Given the description of an element on the screen output the (x, y) to click on. 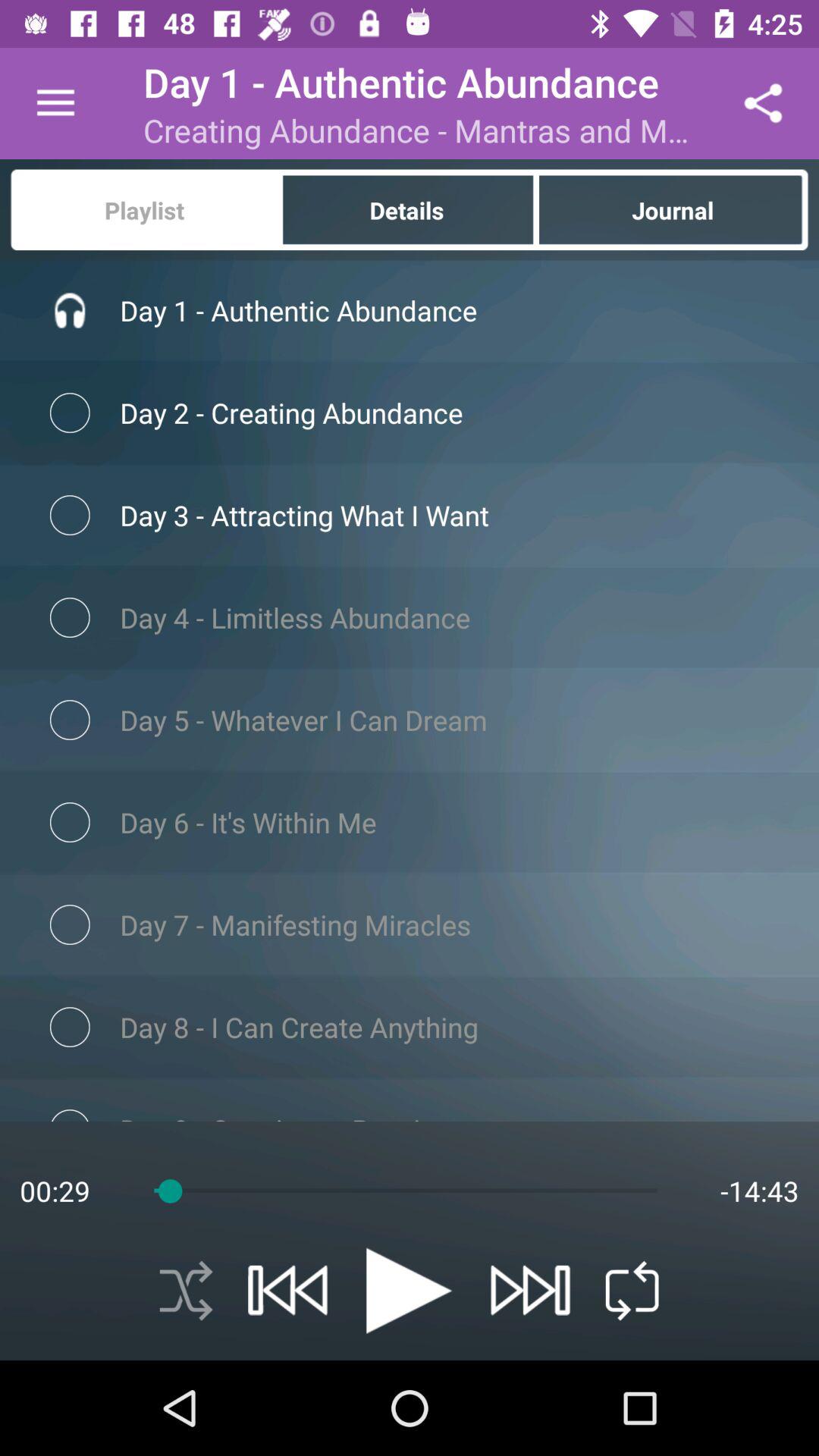
open icon to the right of creating abundance mantras (763, 103)
